Given the description of an element on the screen output the (x, y) to click on. 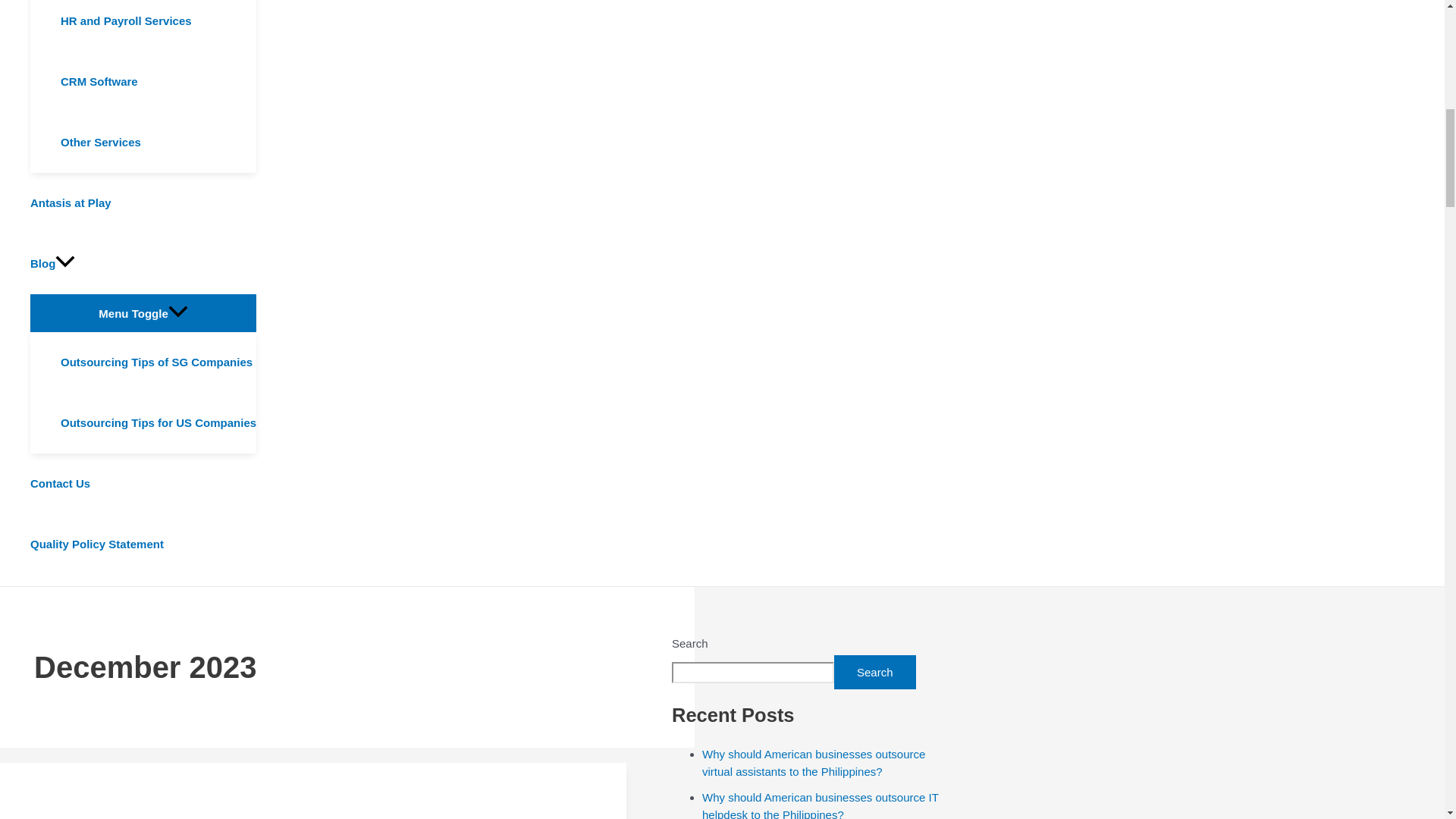
Other Services (158, 142)
Contact Us (143, 483)
Outsourcing Tips for US Companies (158, 423)
Menu Toggle (143, 312)
Quality Policy Statement (143, 544)
Antasis at Play (143, 202)
HR and Payroll Services (158, 25)
Blog (143, 263)
Outsourcing Tips of SG Companies (158, 362)
CRM Software (158, 81)
